Given the description of an element on the screen output the (x, y) to click on. 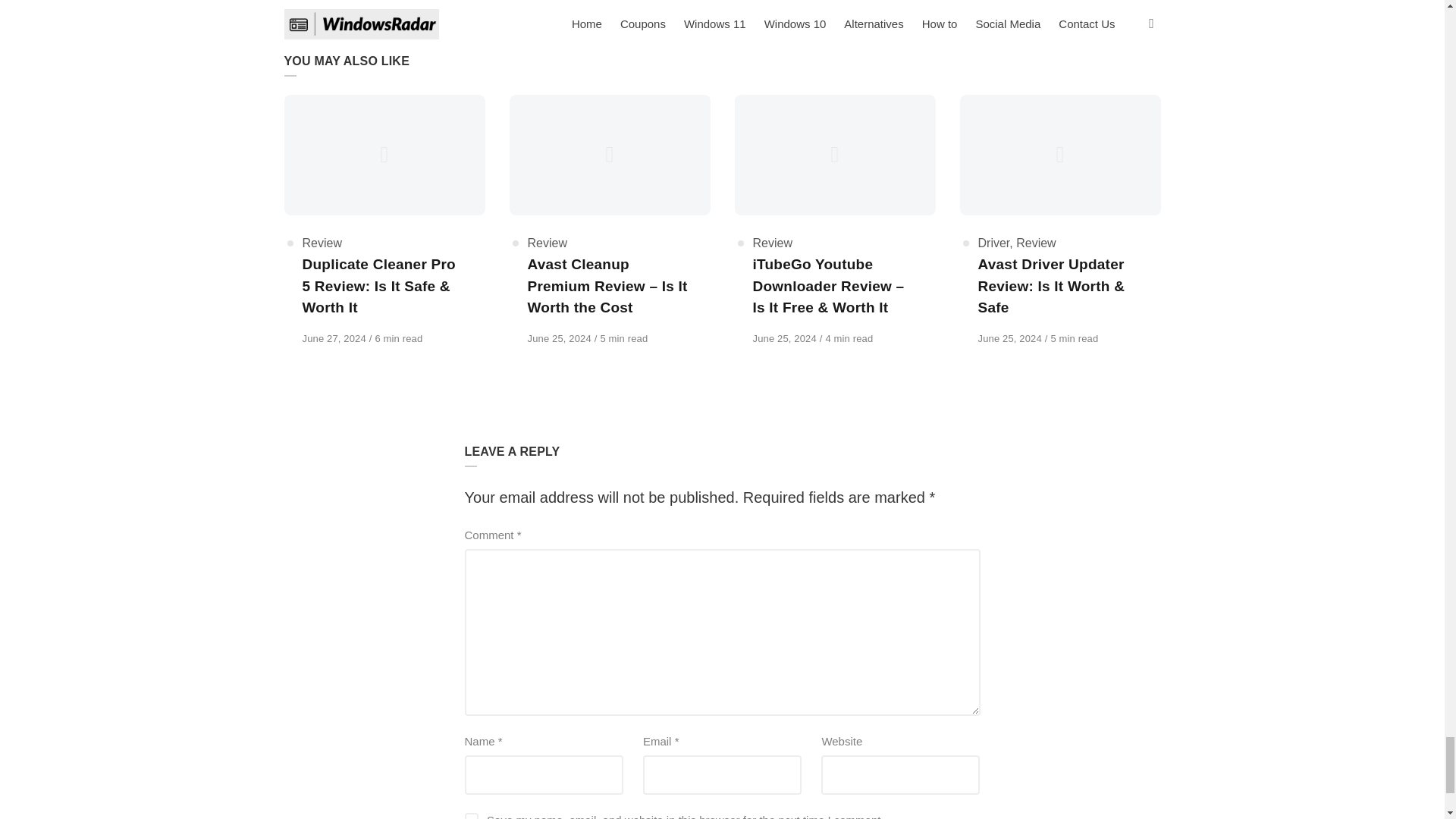
yes (470, 816)
June 25, 2024 (1011, 337)
June 25, 2024 (785, 337)
June 27, 2024 (334, 337)
June 25, 2024 (560, 337)
